Given the description of an element on the screen output the (x, y) to click on. 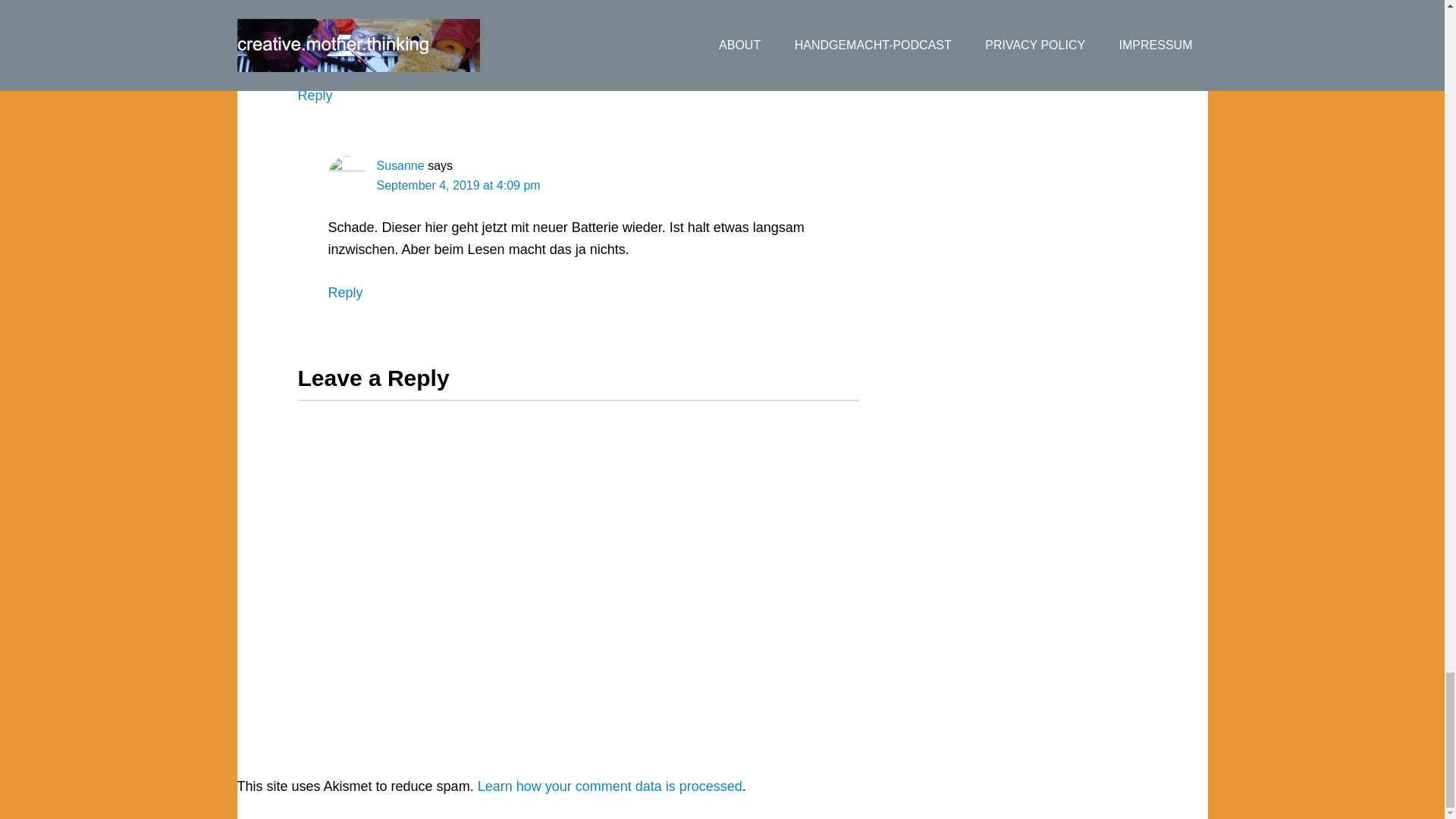
Susanne (399, 164)
Reply (314, 95)
September 4, 2019 at 4:09 pm (457, 185)
Reply (344, 292)
Learn how your comment data is processed (609, 785)
